Given the description of an element on the screen output the (x, y) to click on. 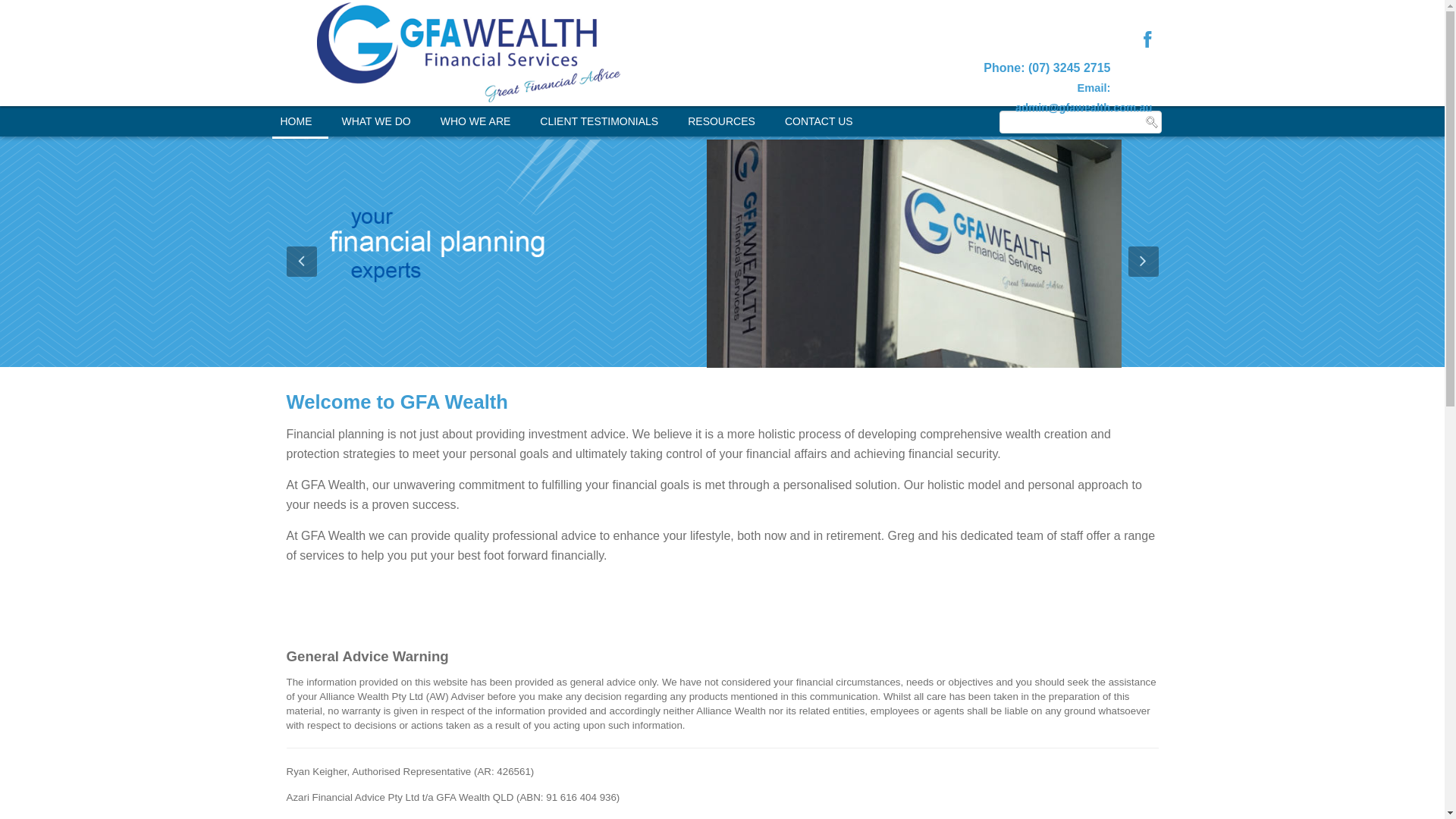
RESOURCES Element type: text (721, 121)
Welcome to GFA Wealth Element type: text (397, 401)
HOME Element type: text (296, 121)
WHO WE ARE Element type: text (475, 121)
CLIENT TESTIMONIALS Element type: text (598, 121)
CONTACT US Element type: text (818, 121)
admin@gfawealth.com.au Element type: text (1083, 107)
WHAT WE DO Element type: text (375, 121)
